Given the description of an element on the screen output the (x, y) to click on. 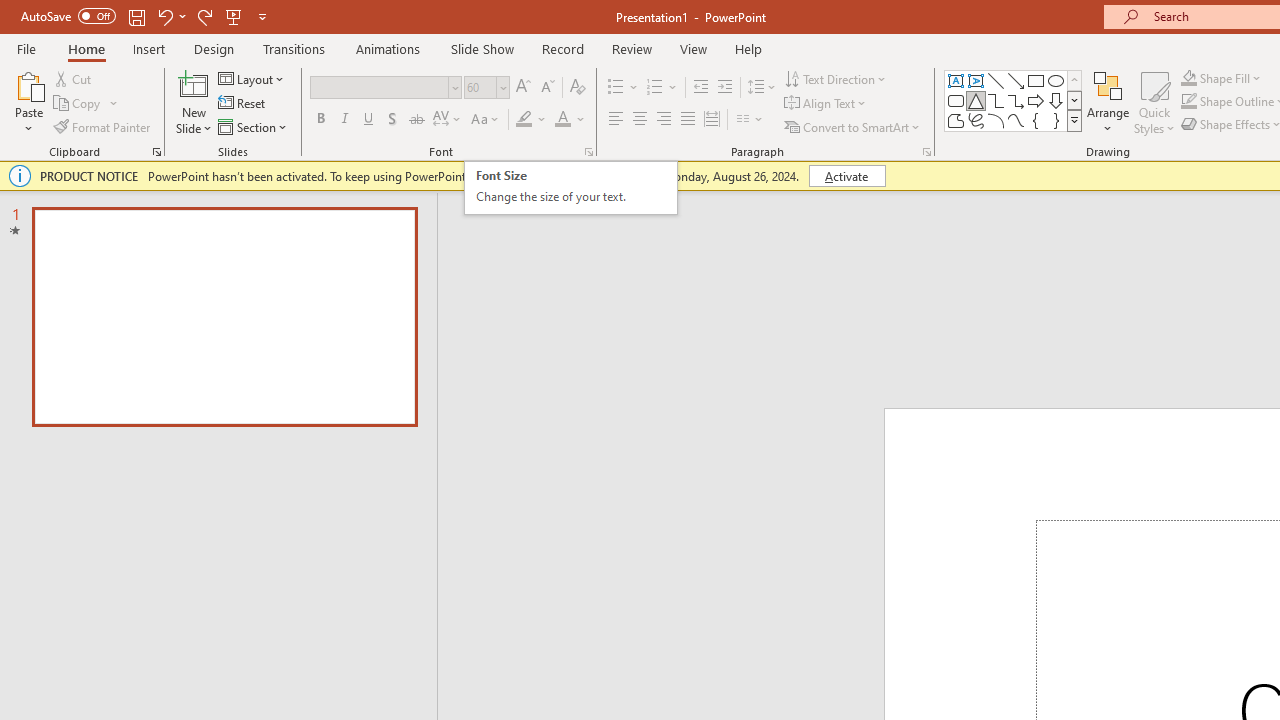
Help (1013, 84)
Indent Right (858, 196)
Genko Setting... (676, 161)
UGround_paper.pdf (1206, 47)
Visual Studio 2022 (57, 457)
Notion (57, 180)
Visual Studio Code (57, 591)
Page Setup... (621, 226)
Spacing Before (1066, 161)
Indent Left (858, 161)
